Given the description of an element on the screen output the (x, y) to click on. 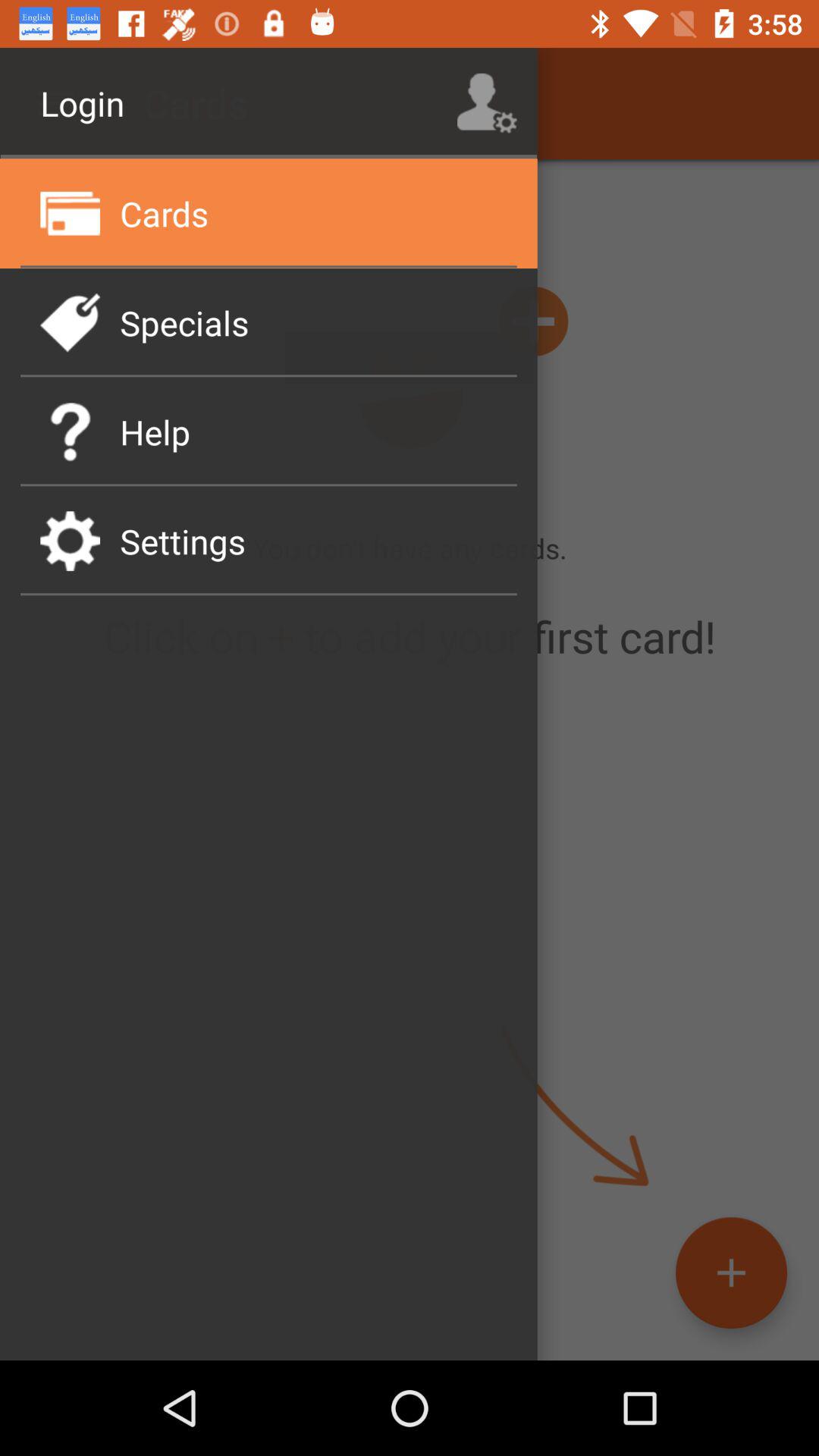
click on the icon left to the text specials (69, 322)
click the icon on left to the help button on the web page (69, 431)
click on the icon beside login on the top right corner of the web page (486, 103)
click on the icon beside help (69, 431)
click on the icon beside cards (69, 213)
select the settings icon (69, 540)
